Given the description of an element on the screen output the (x, y) to click on. 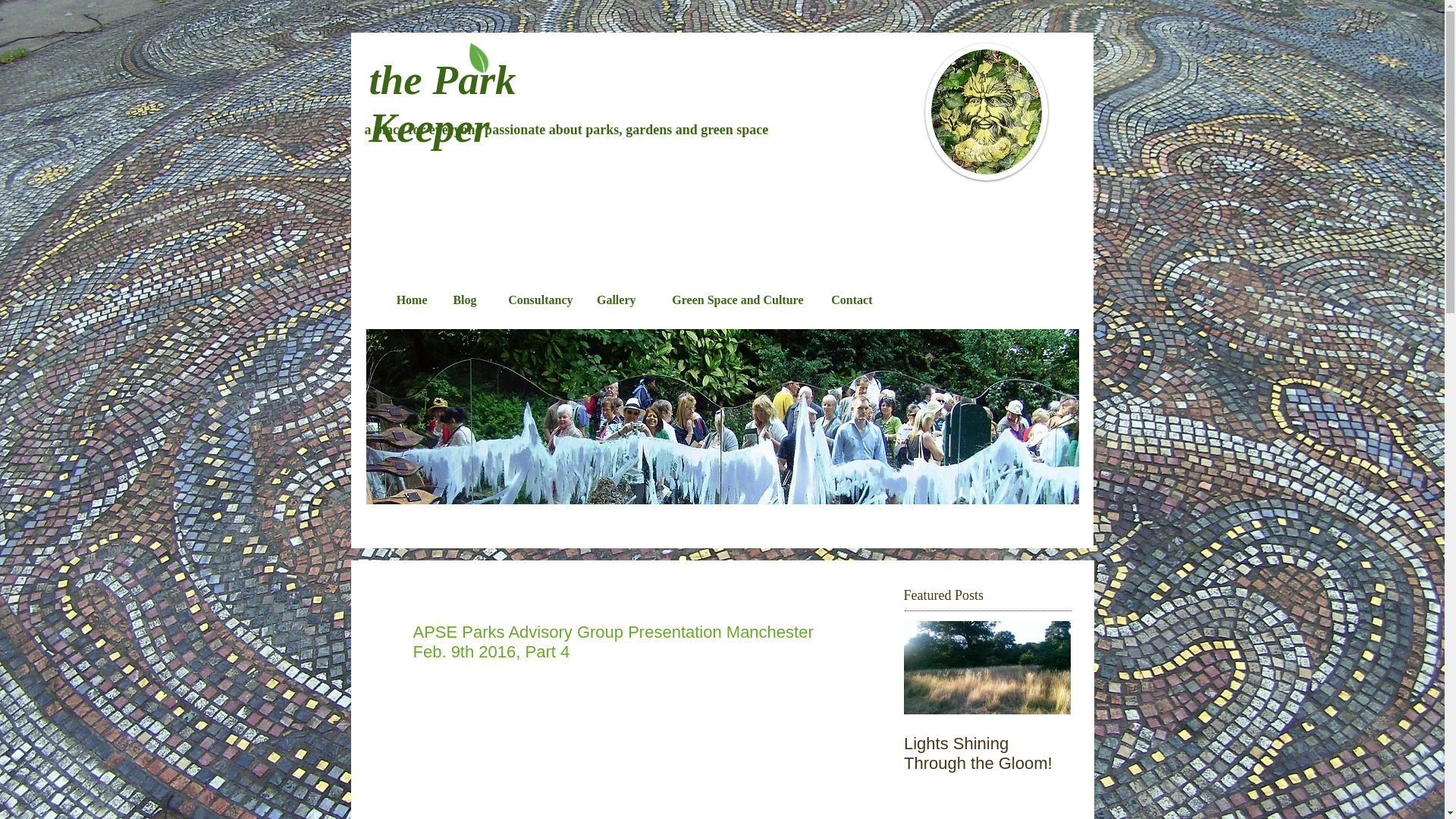
Gallery (614, 299)
Home (408, 299)
Blog (462, 299)
Consultancy (536, 299)
Green Space and Culture (731, 299)
Lights Shining Through the Gloom! (987, 753)
The Green Man (986, 111)
Contact (848, 299)
the Park Keeper (441, 103)
Embedded Content (957, 250)
